Given the description of an element on the screen output the (x, y) to click on. 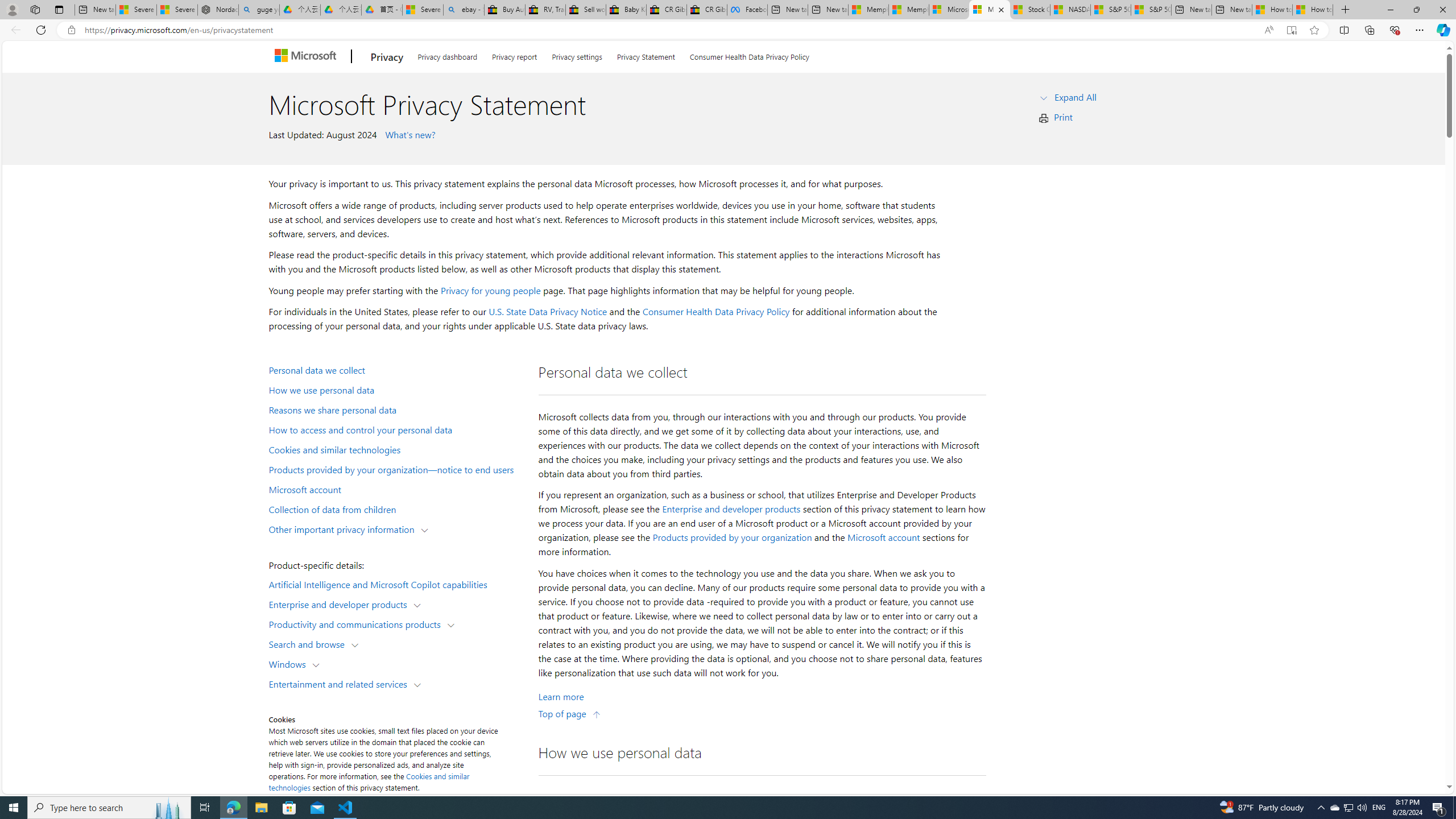
Microsoft account (883, 537)
Personal data we collect (395, 368)
Microsoft (306, 56)
Expand All (1075, 96)
Privacy Statement (645, 54)
Privacy Statement (645, 54)
